Given the description of an element on the screen output the (x, y) to click on. 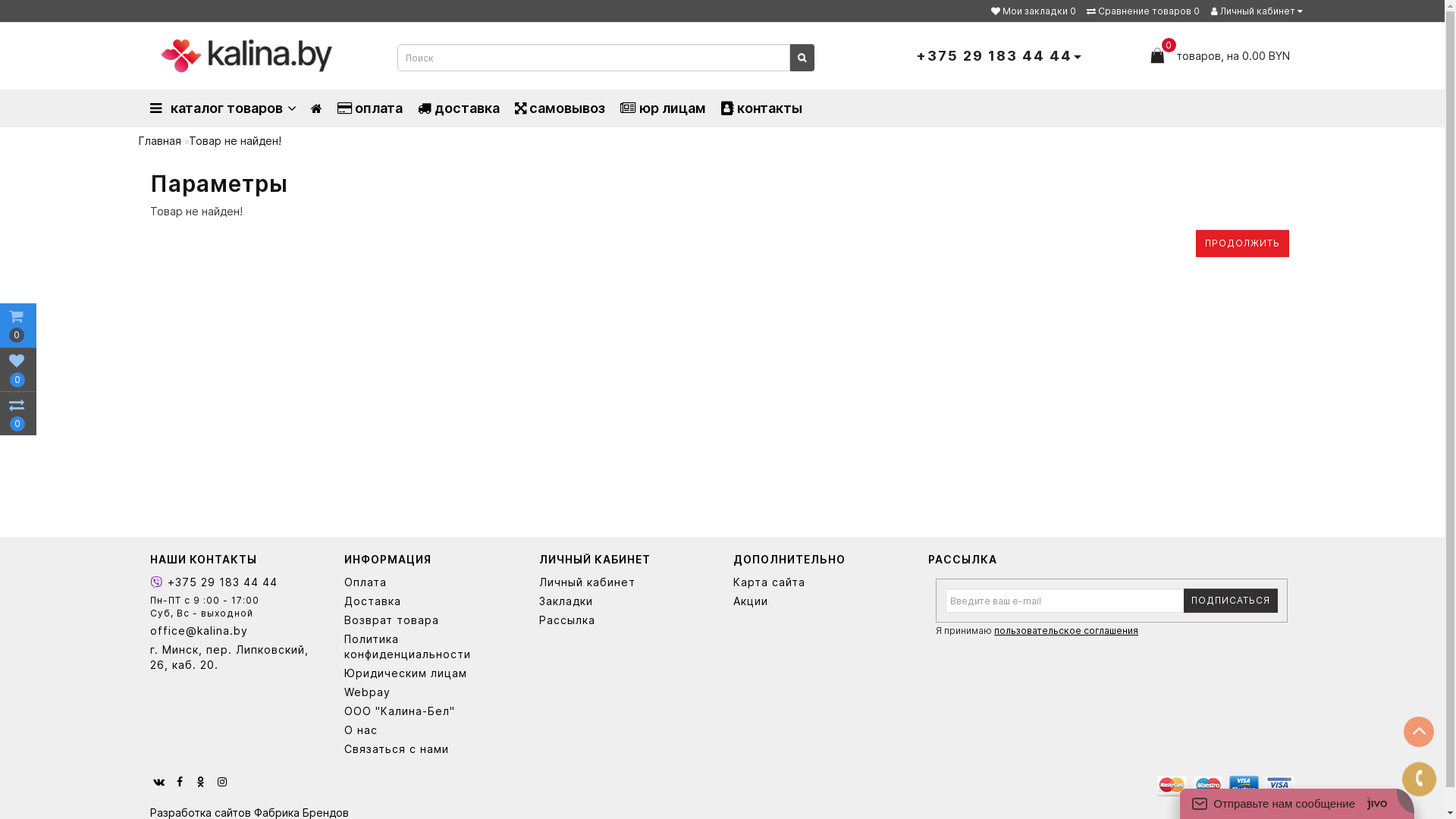
+375 29 183 44 44 Element type: text (236, 581)
office@kalina.by Element type: text (236, 630)
0 Element type: text (18, 369)
0 Element type: text (18, 413)
payment Element type: hover (1224, 785)
Kalina.by Element type: hover (246, 56)
Webpay Element type: text (430, 691)
